Given the description of an element on the screen output the (x, y) to click on. 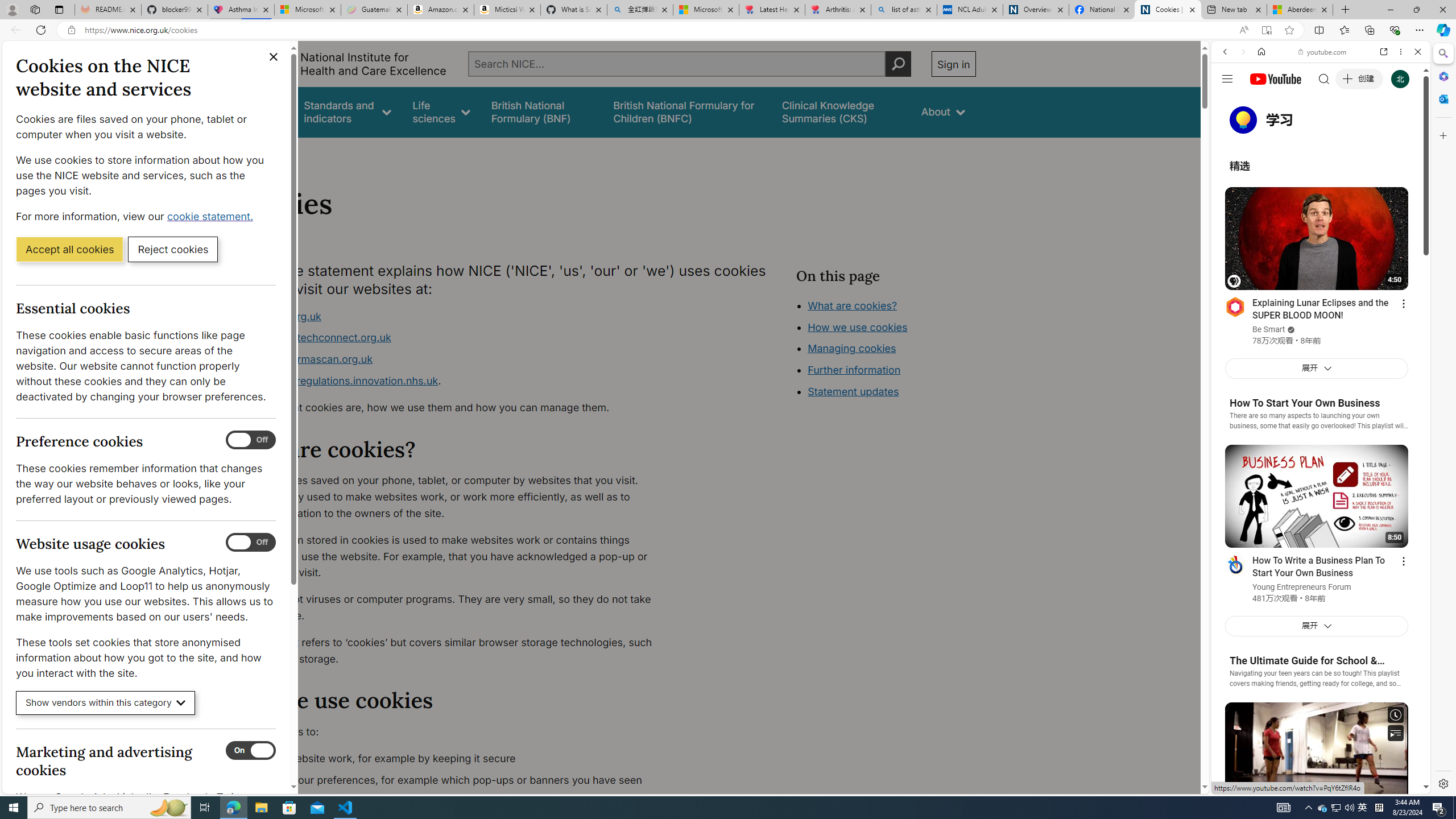
How we use cookies (896, 389)
YouTube (1315, 655)
Be Smart (1268, 329)
www.nice.org.uk (452, 316)
Cookies | About | NICE (1167, 9)
Preference cookies (250, 439)
